Given the description of an element on the screen output the (x, y) to click on. 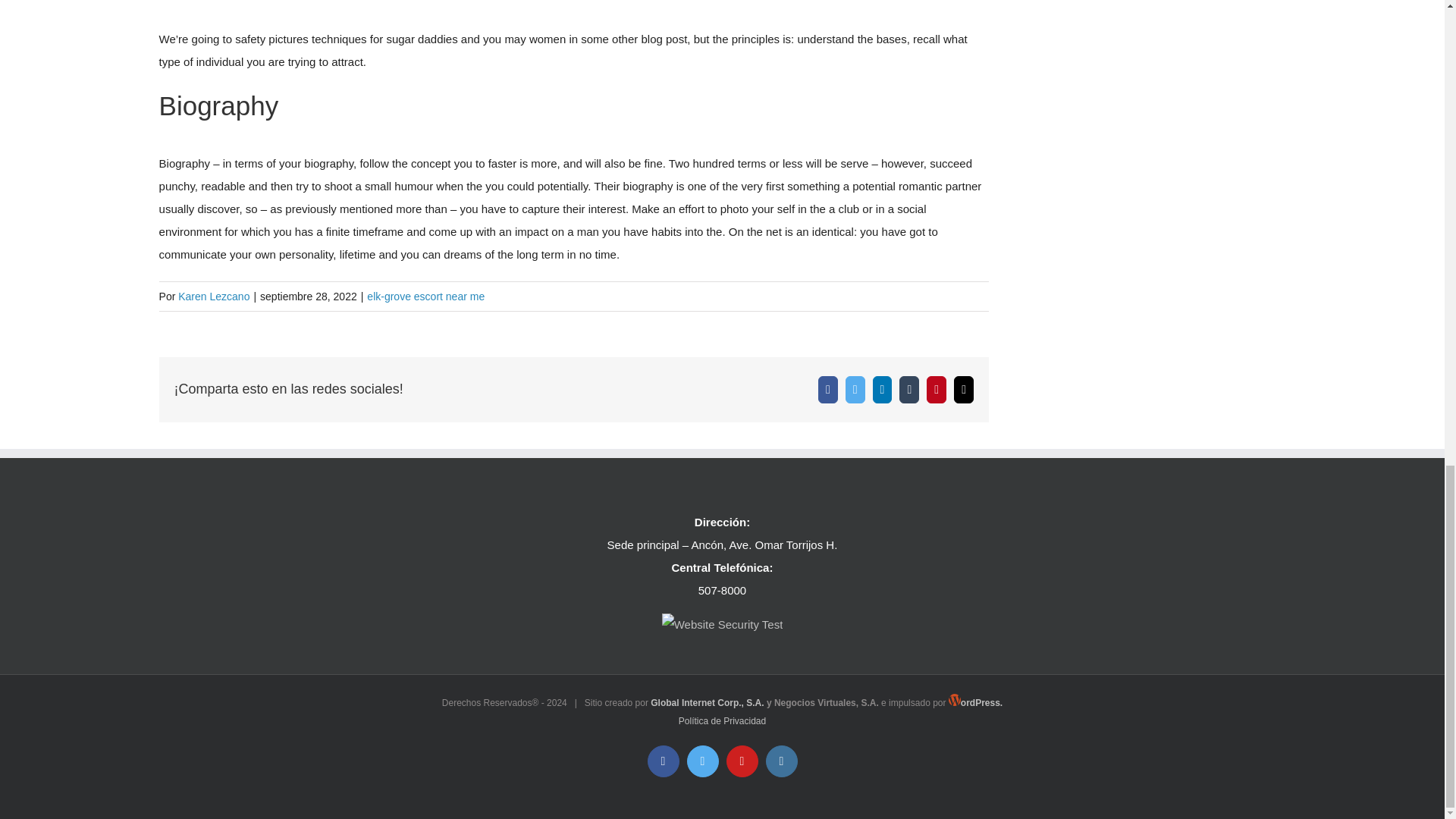
YouTube (742, 761)
Tumblr (908, 389)
Pinterest (936, 389)
ordPress. (976, 702)
Facebook (828, 389)
Global Internet Corp., S.A. (706, 702)
Twitter (703, 761)
Twitter (854, 389)
Facebook (663, 761)
elk-grove escort near me (425, 296)
Entradas de Karen Lezcano (212, 296)
Instagram (781, 761)
LinkedIn (882, 389)
Karen Lezcano (212, 296)
